Given the description of an element on the screen output the (x, y) to click on. 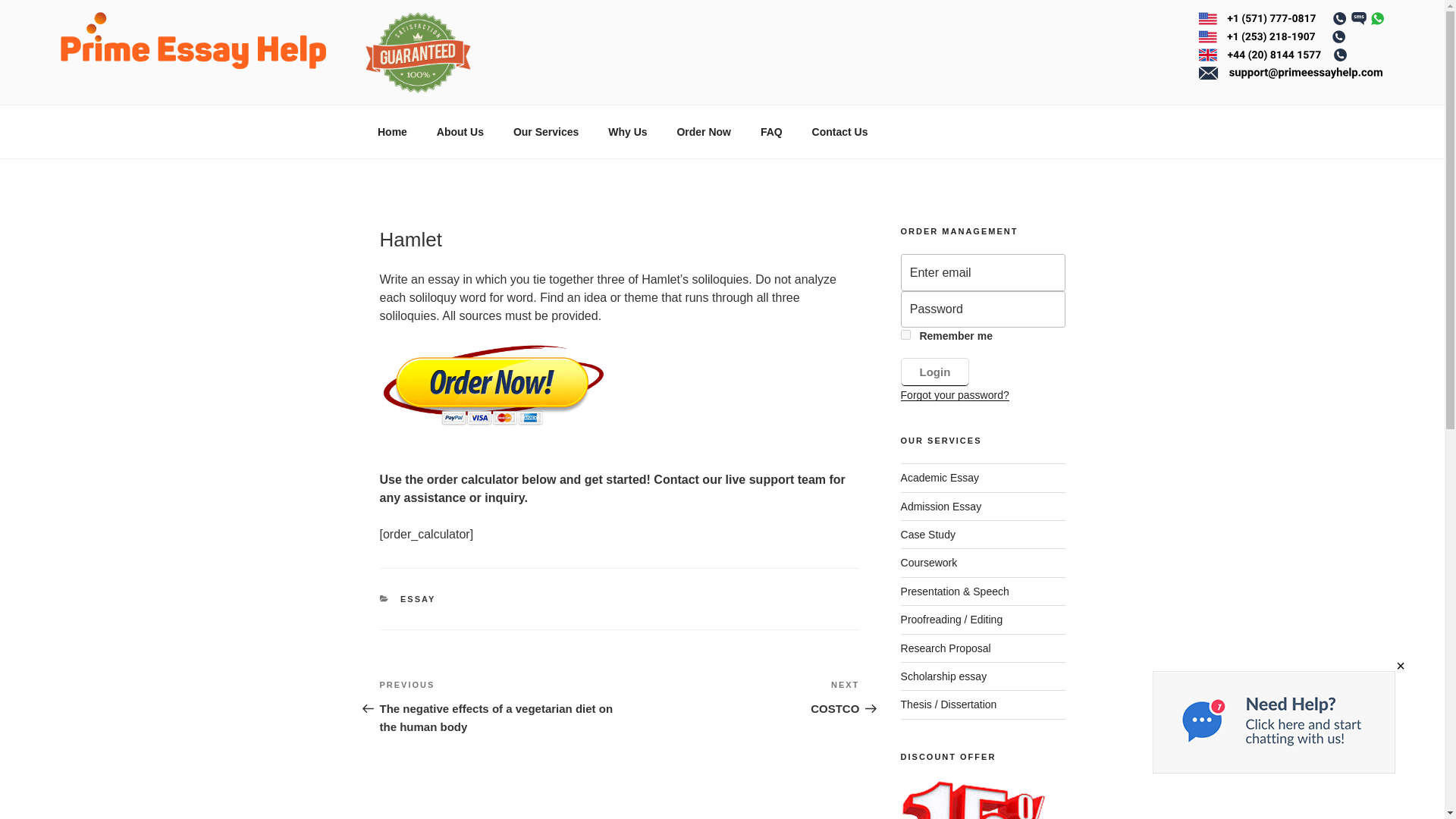
Our Services (545, 131)
on (906, 334)
Why Us (739, 696)
About Us (628, 131)
Contact Us (459, 131)
Scholarship essay (838, 131)
ESSAY (944, 676)
Login (417, 598)
Academic Essay (935, 371)
Admission Essay (939, 477)
Home (941, 506)
Case Study (392, 131)
click to Login (928, 534)
